Given the description of an element on the screen output the (x, y) to click on. 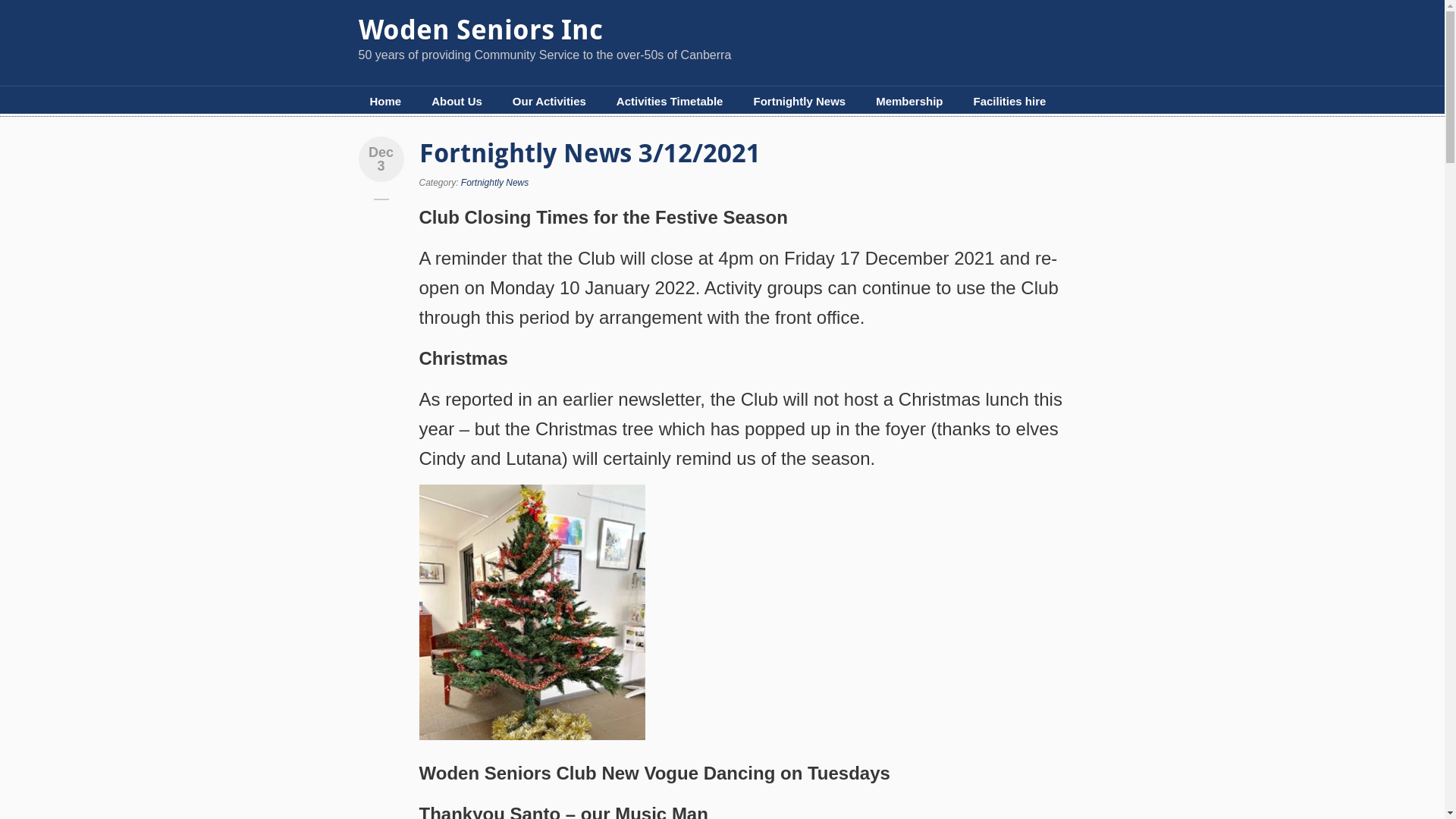
About Us Element type: text (456, 101)
Woden Seniors Inc Element type: text (479, 29)
image003-10-jpg Element type: hover (531, 611)
Our Activities Element type: text (549, 101)
Activities Timetable Element type: text (669, 101)
Home Element type: text (384, 101)
Membership Element type: text (908, 101)
Facilities hire Element type: text (1009, 101)
Fortnightly News Element type: text (494, 182)
Fortnightly News Element type: text (798, 101)
